Given the description of an element on the screen output the (x, y) to click on. 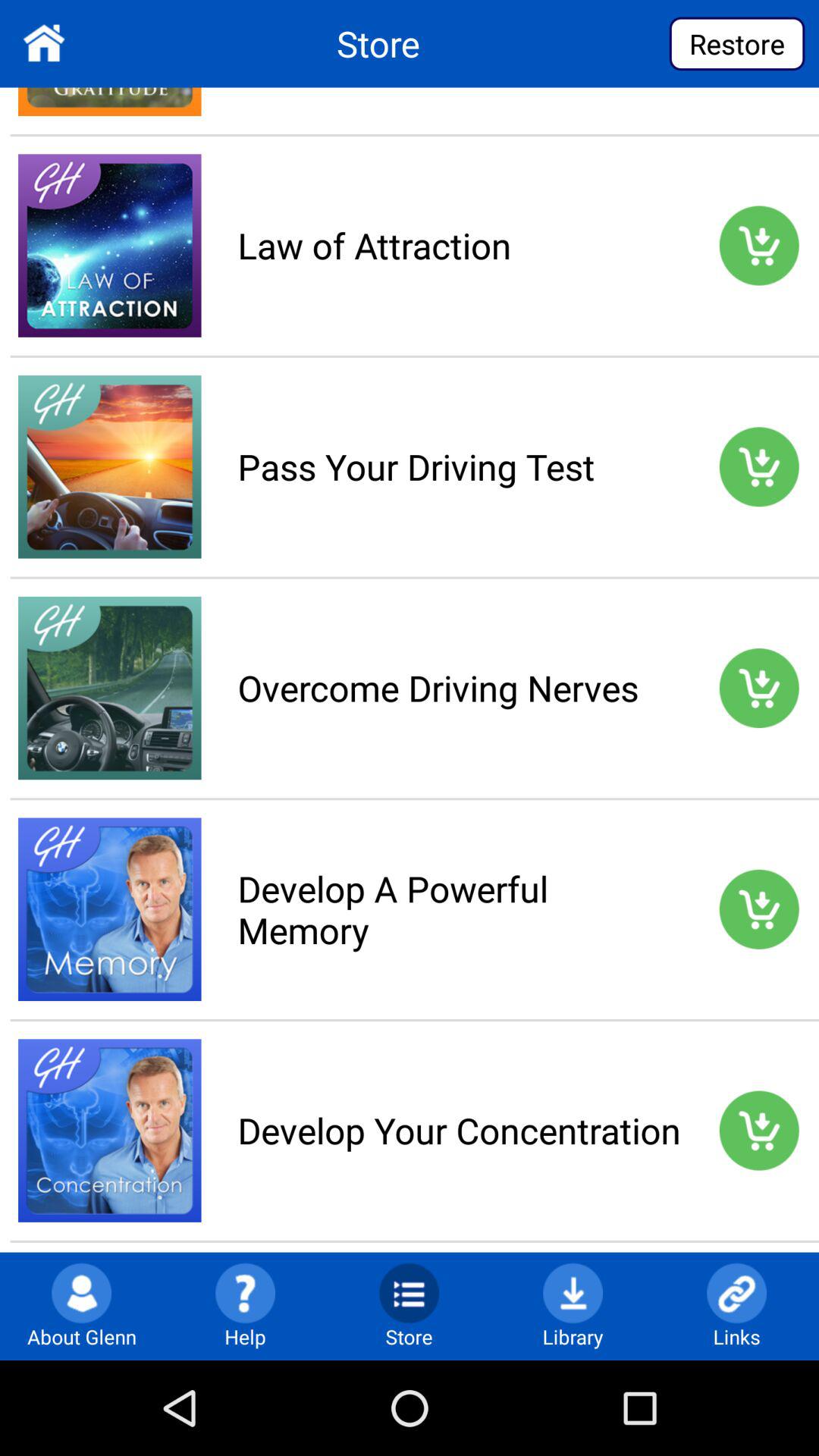
tap the pass your driving app (459, 466)
